Given the description of an element on the screen output the (x, y) to click on. 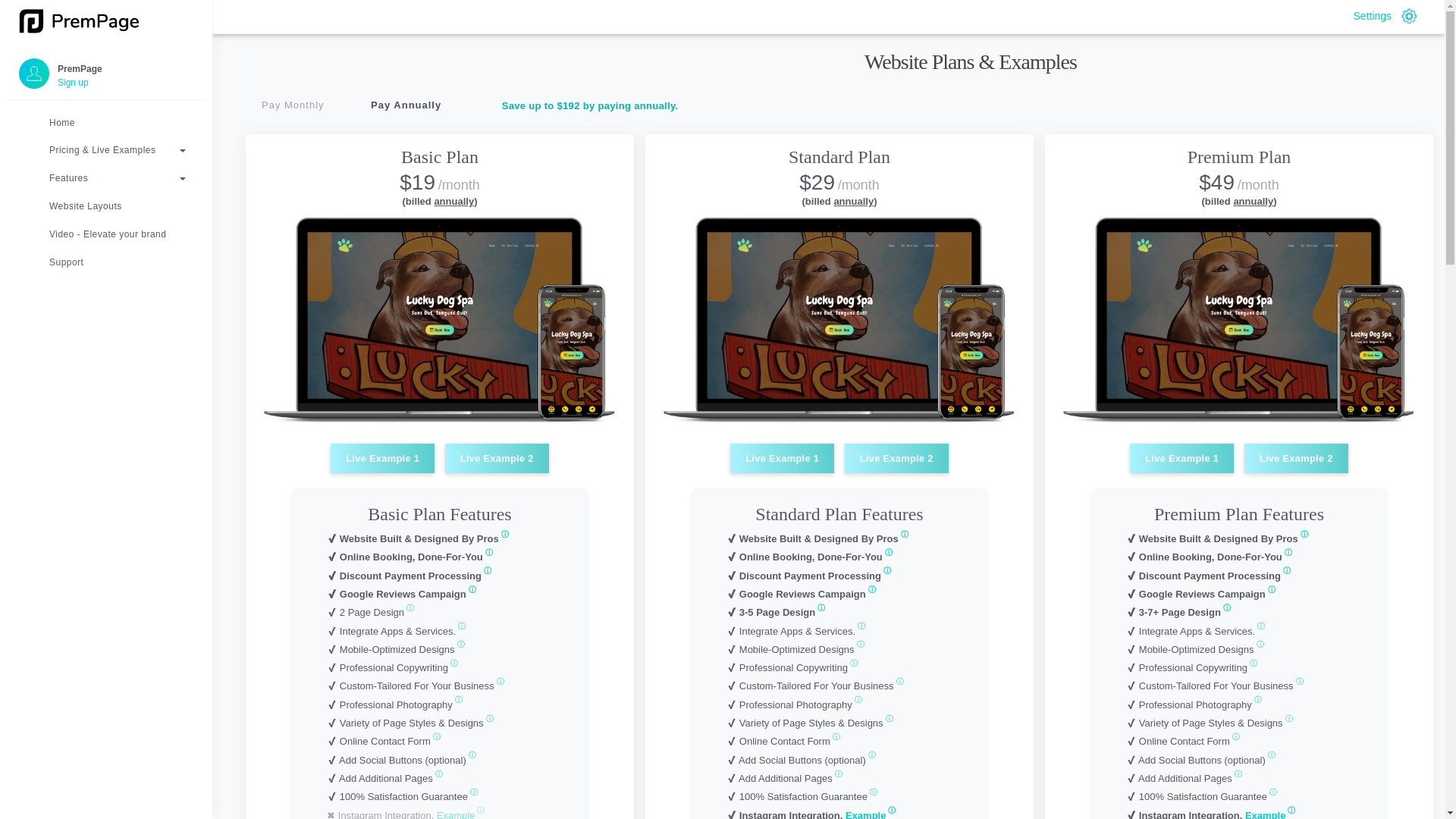
PremPage (105, 67)
Home (106, 123)
Settings (1388, 15)
Sign up (105, 82)
